Given the description of an element on the screen output the (x, y) to click on. 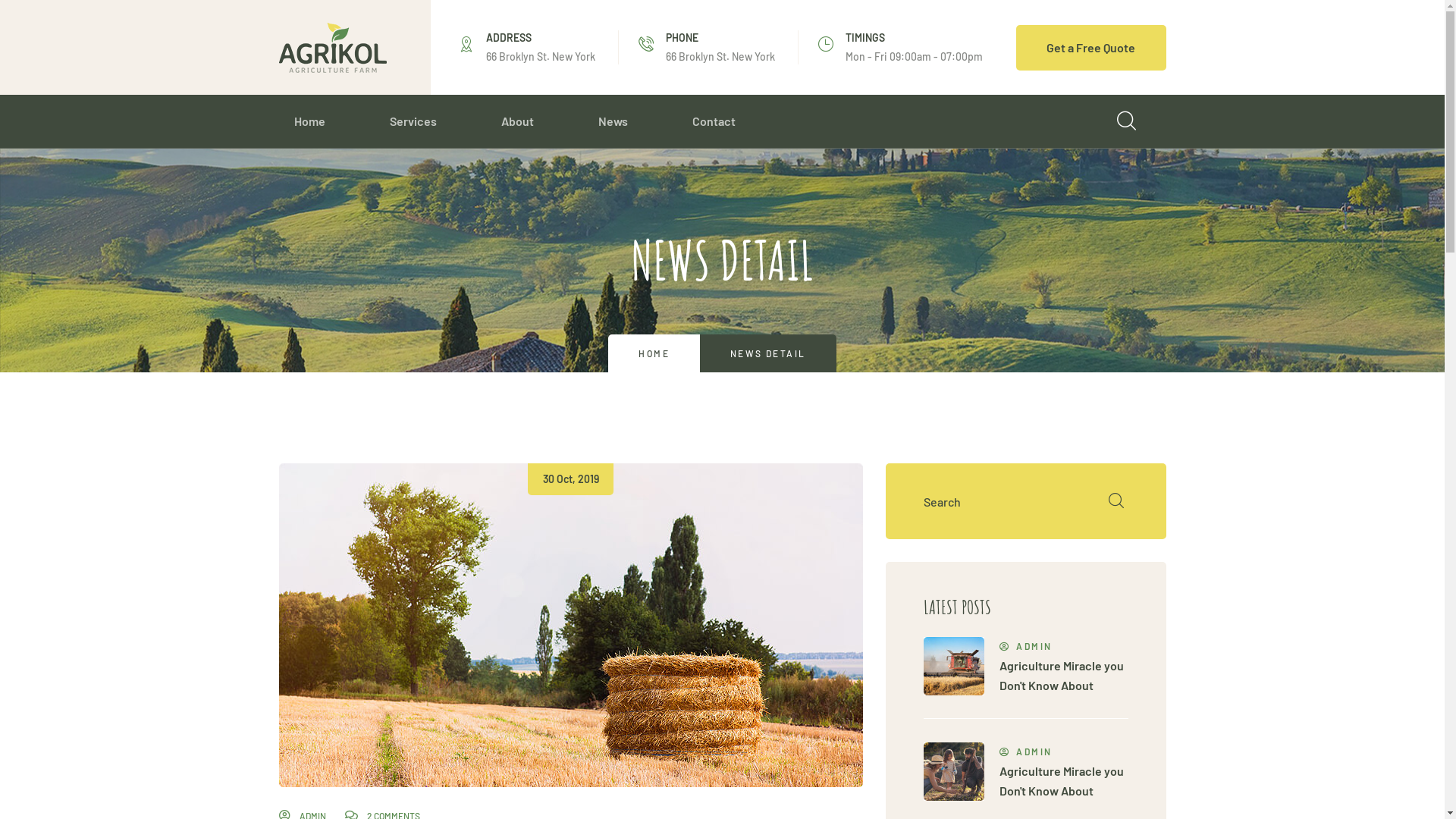
Agriculture Miracle you Don't Know About Element type: text (1061, 780)
ADMIN Element type: text (1063, 645)
66 Broklyn St. New York Element type: text (720, 56)
HOME Element type: text (653, 353)
Agriculture Miracle you Don't Know About Element type: text (1061, 675)
About Element type: text (516, 121)
Get a Free Quote Element type: text (1091, 46)
Home Element type: text (309, 121)
Contact Element type: text (712, 121)
Services Element type: text (412, 121)
News Element type: text (612, 121)
ADMIN Element type: text (1063, 751)
